Given the description of an element on the screen output the (x, y) to click on. 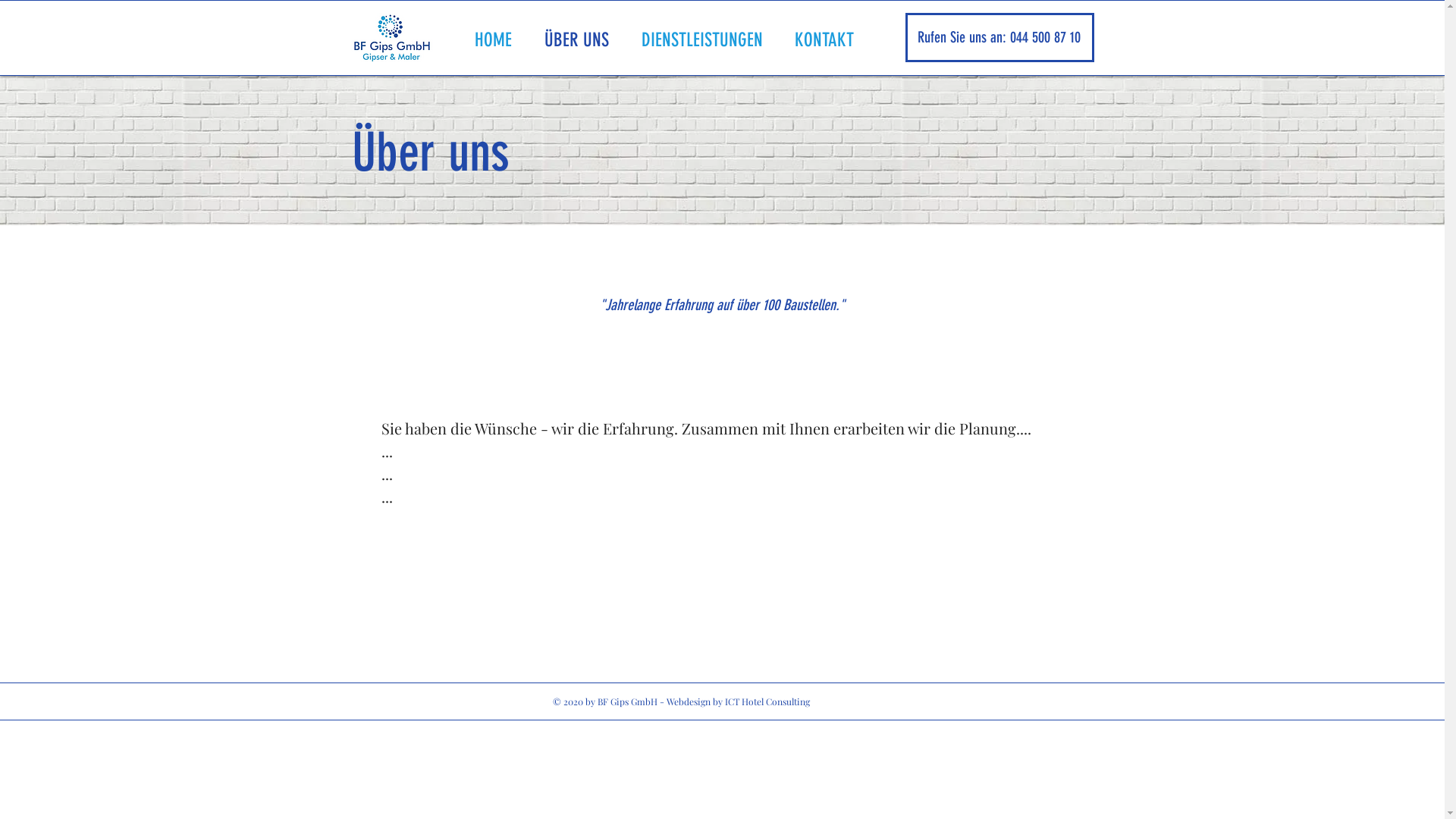
KONTAKT Element type: text (827, 37)
Rufen Sie uns an: 044 500 87 10 Element type: text (998, 37)
HOME Element type: text (497, 37)
DIENSTLEISTUNGEN Element type: text (705, 37)
Webdesign by ICT Hotel Consulting  Element type: text (738, 701)
